Given the description of an element on the screen output the (x, y) to click on. 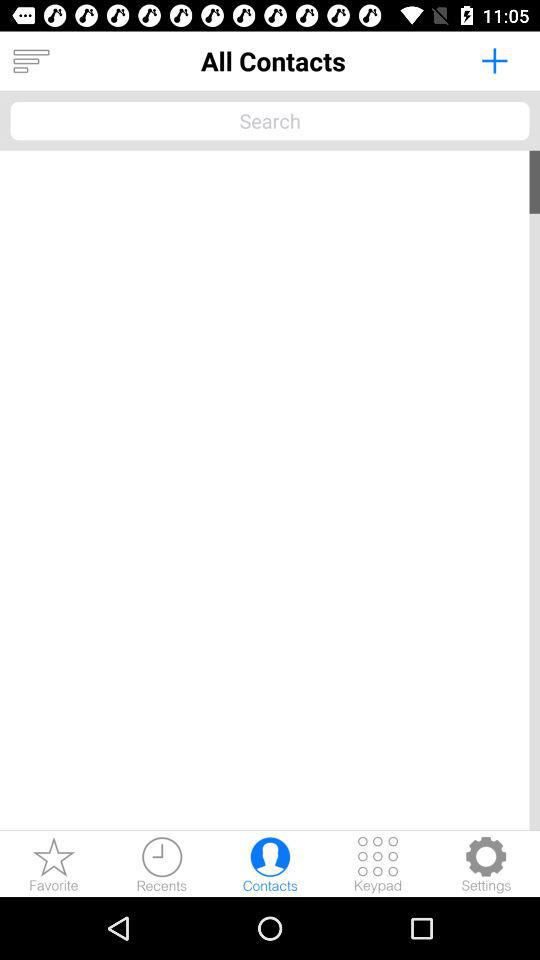
show favorites (53, 864)
